Given the description of an element on the screen output the (x, y) to click on. 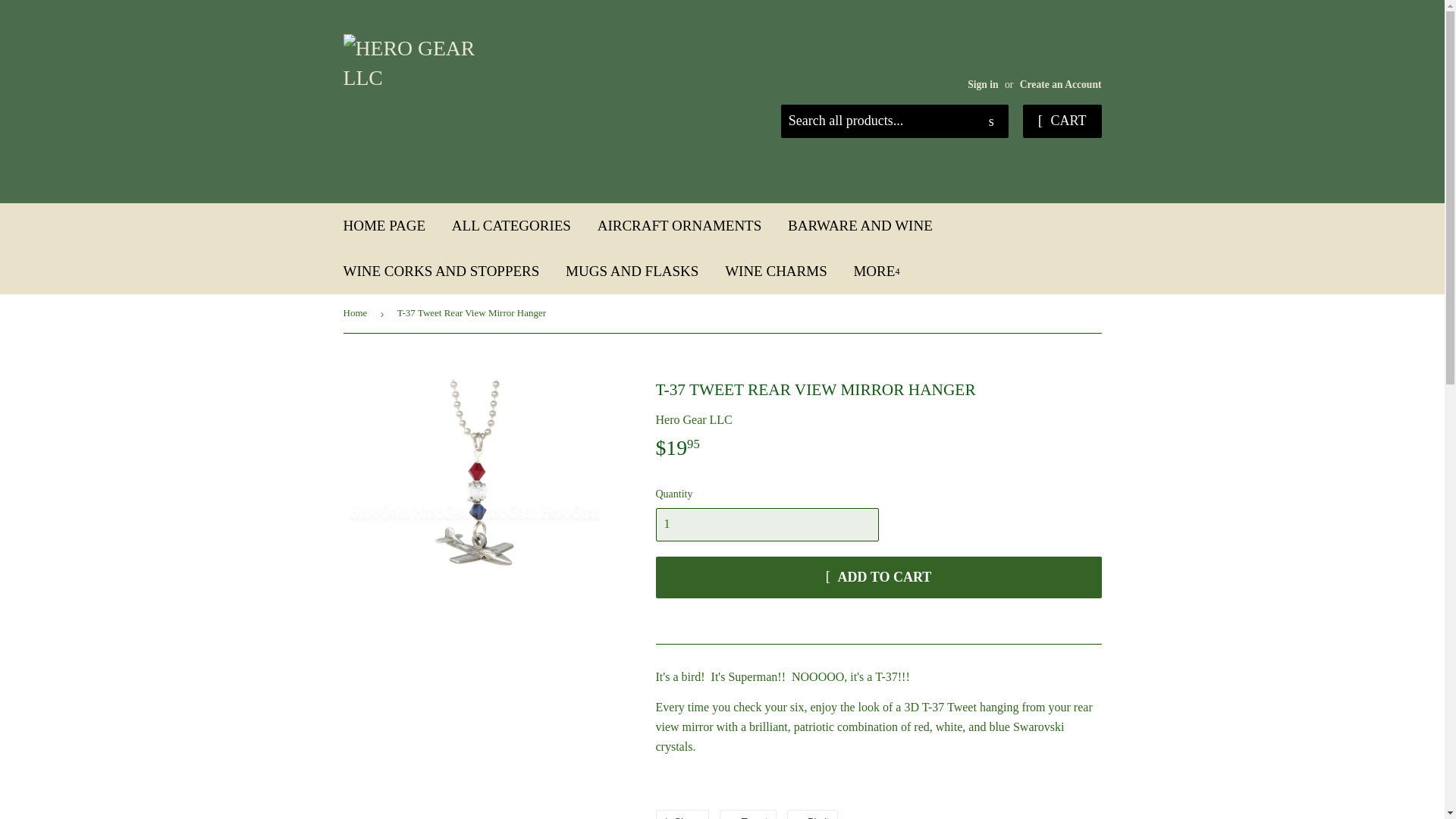
Share on Facebook (682, 814)
HOME PAGE (384, 225)
Pin on Pinterest (812, 814)
CART (1062, 121)
BARWARE AND WINE (859, 225)
MUGS AND FLASKS (632, 271)
Sign in (982, 84)
AIRCRAFT ORNAMENTS (679, 225)
ALL CATEGORIES (511, 225)
WINE CORKS AND STOPPERS (441, 271)
MORE (876, 271)
Search (991, 122)
WINE CHARMS (775, 271)
Create an Account (1061, 84)
Back to the frontpage (357, 313)
